Given the description of an element on the screen output the (x, y) to click on. 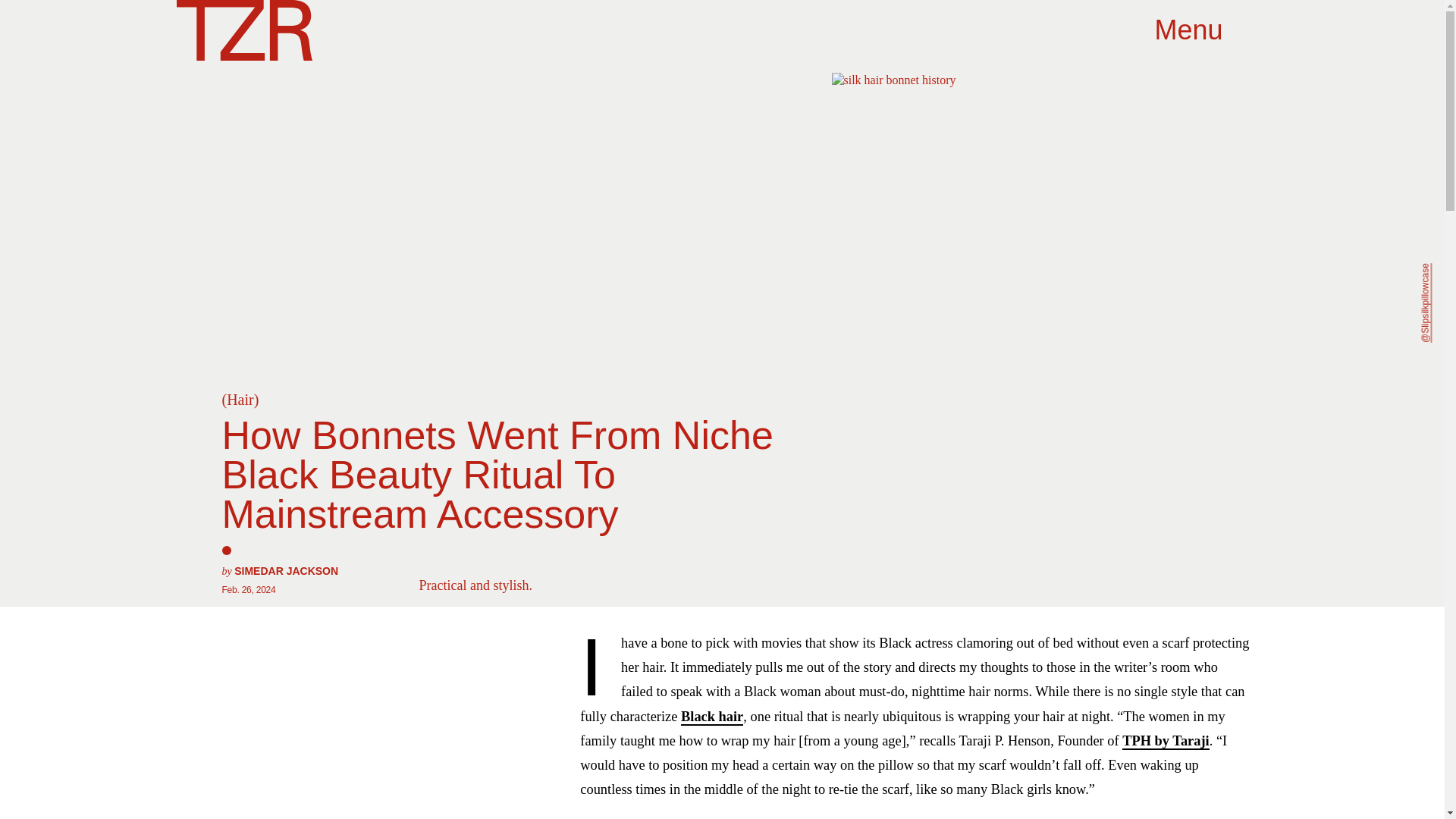
Black hair (711, 717)
The Zoe Report (243, 30)
SIMEDAR JACKSON (285, 571)
TPH by Taraji (1165, 741)
